Given the description of an element on the screen output the (x, y) to click on. 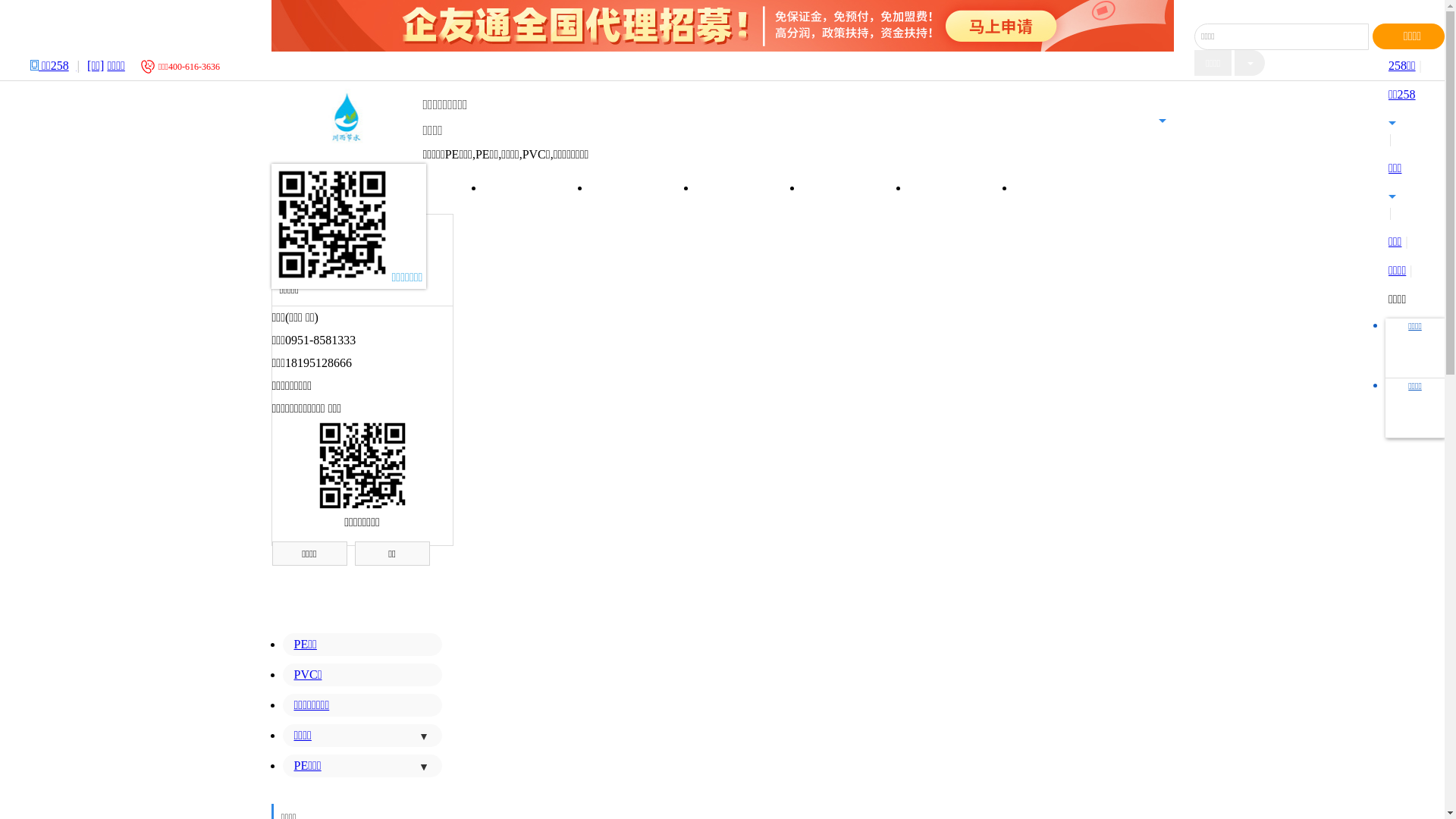
http://m.258jituan.com/shop-707383 Element type: hover (361, 465)
